Given the description of an element on the screen output the (x, y) to click on. 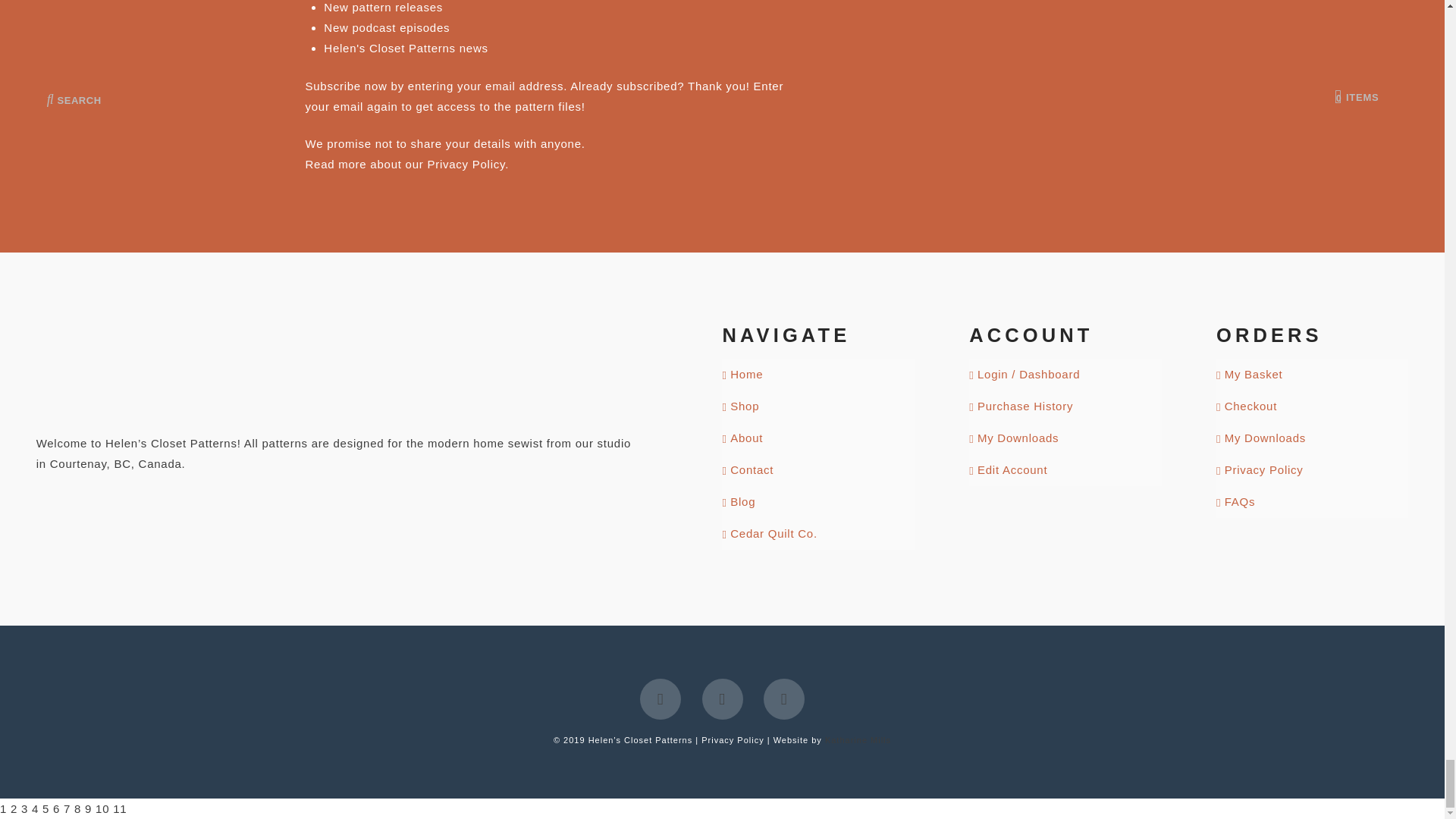
Katharine Mills WordPress Designer Website Developer (858, 739)
Pinterest (783, 698)
Facebook (660, 698)
Instagram (721, 698)
